Given the description of an element on the screen output the (x, y) to click on. 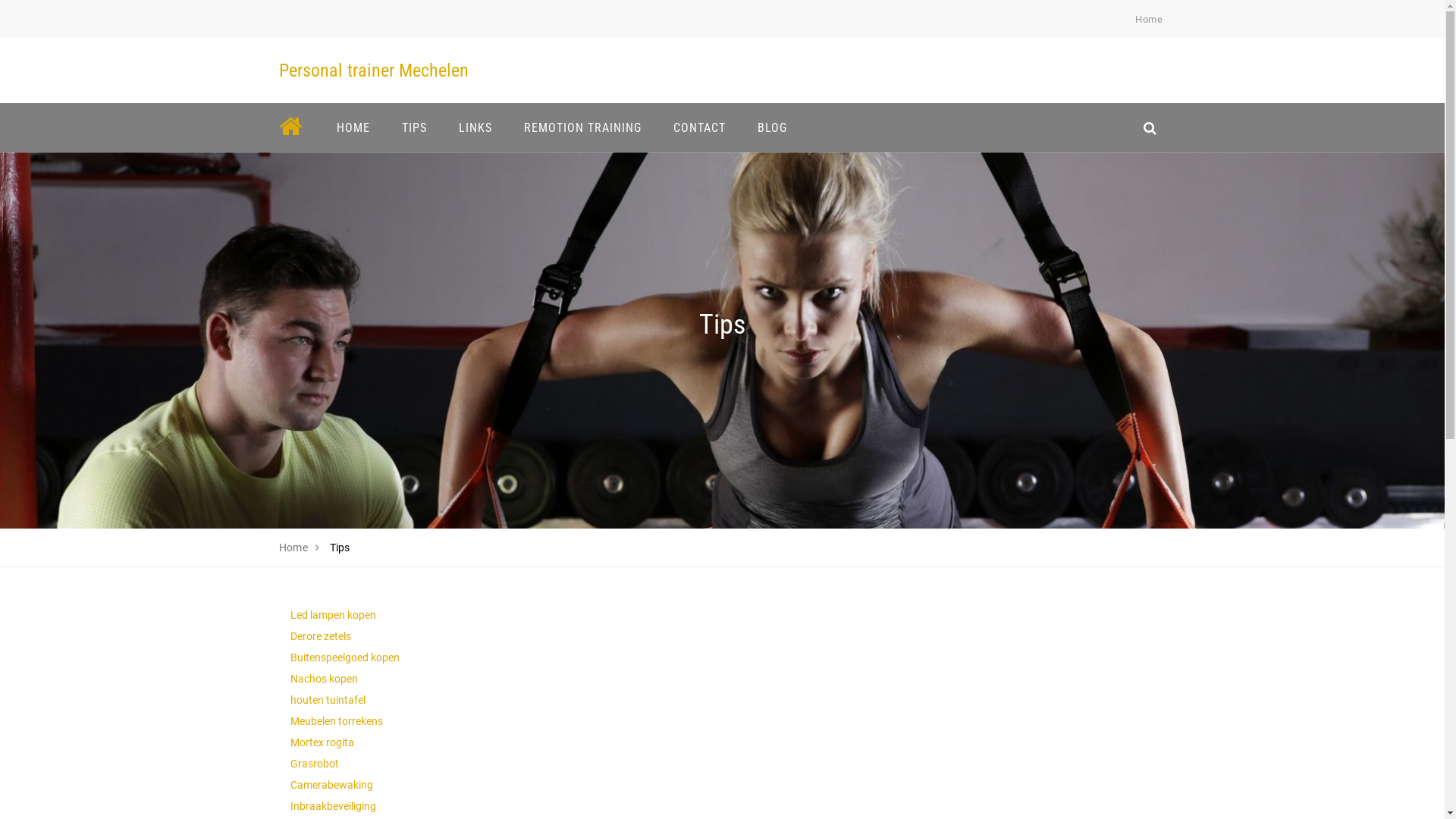
CONTACT Element type: text (698, 127)
Camerabewaking Element type: text (330, 784)
BLOG Element type: text (772, 127)
Home Element type: text (1148, 19)
Led lampen kopen Element type: text (332, 614)
Personal trainer Mechelen Element type: text (373, 70)
HOME Element type: text (352, 127)
search_icon Element type: hover (1148, 127)
Mortex rogita Element type: text (321, 742)
houten tuintafel Element type: text (326, 699)
LINKS Element type: text (475, 127)
Grasrobot Element type: text (313, 763)
Meubelen torrekens Element type: text (335, 721)
Home Element type: text (293, 547)
Buitenspeelgoed kopen Element type: text (343, 657)
REMOTION TRAINING Element type: text (582, 127)
TIPS Element type: text (413, 127)
Derore zetels Element type: text (319, 636)
Nachos kopen Element type: text (323, 678)
Inbraakbeveiliging Element type: text (332, 806)
